Given the description of an element on the screen output the (x, y) to click on. 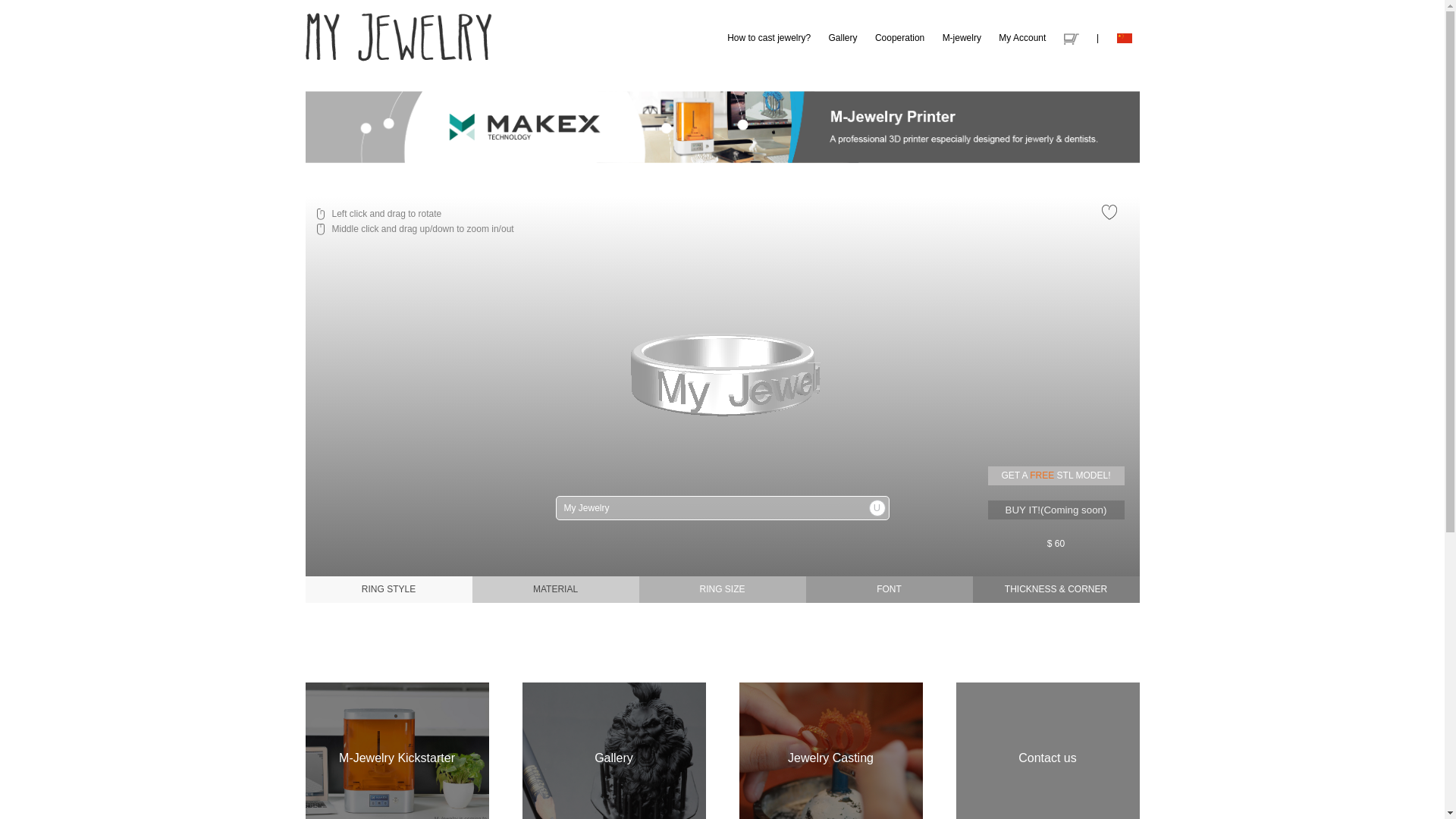
Gallery Element type: text (842, 37)
Cooperation Element type: text (899, 37)
My Account Element type: text (1021, 37)
M-jewelry Element type: text (961, 37)
BUY IT!(Coming soon) Element type: text (1055, 509)
How to cast jewelry? Element type: text (768, 37)
Chinese Element type: hover (1123, 38)
GET A FREE STL MODEL! Element type: text (1055, 475)
